Given the description of an element on the screen output the (x, y) to click on. 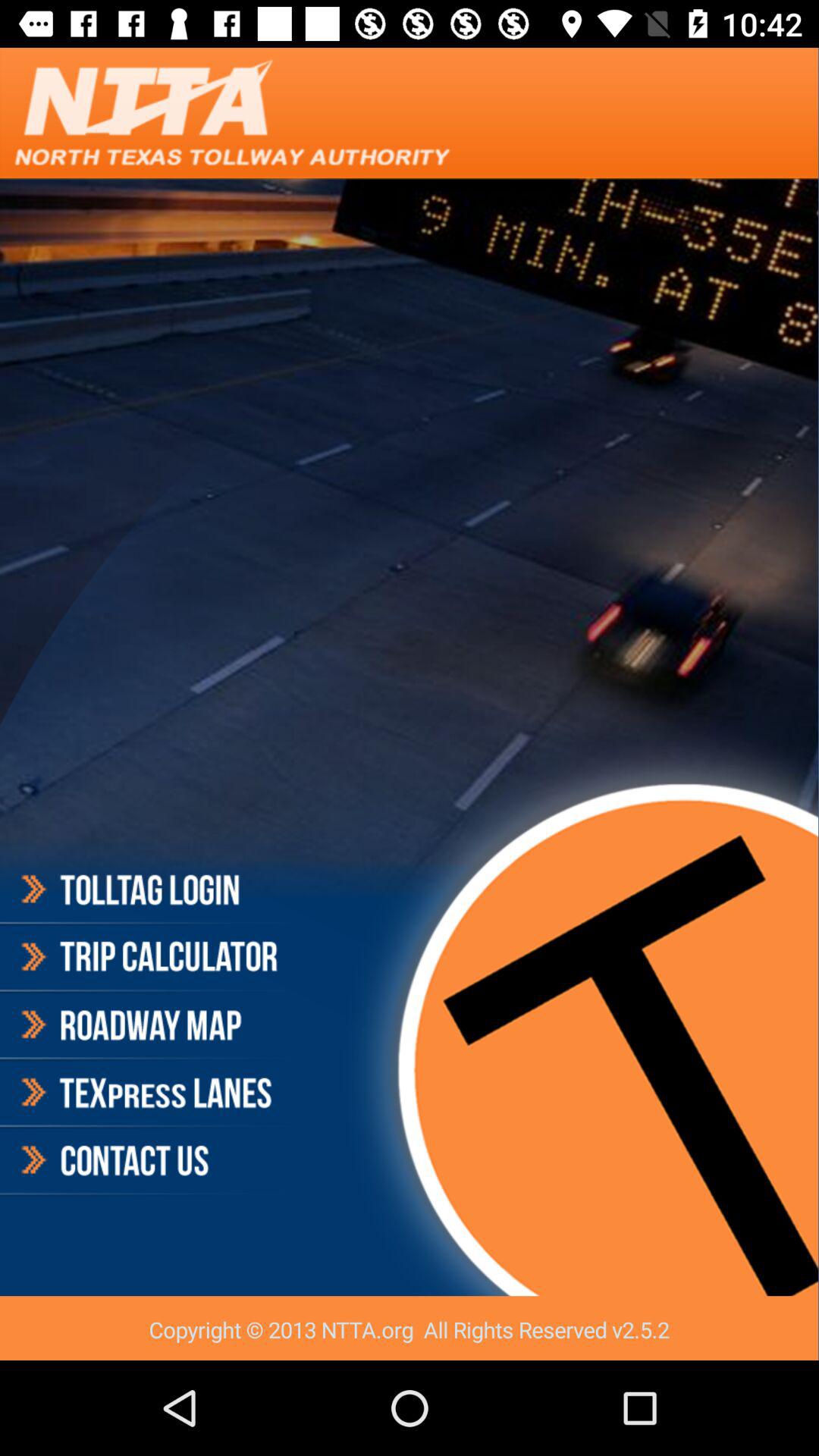
toggle contact us (147, 1160)
